Given the description of an element on the screen output the (x, y) to click on. 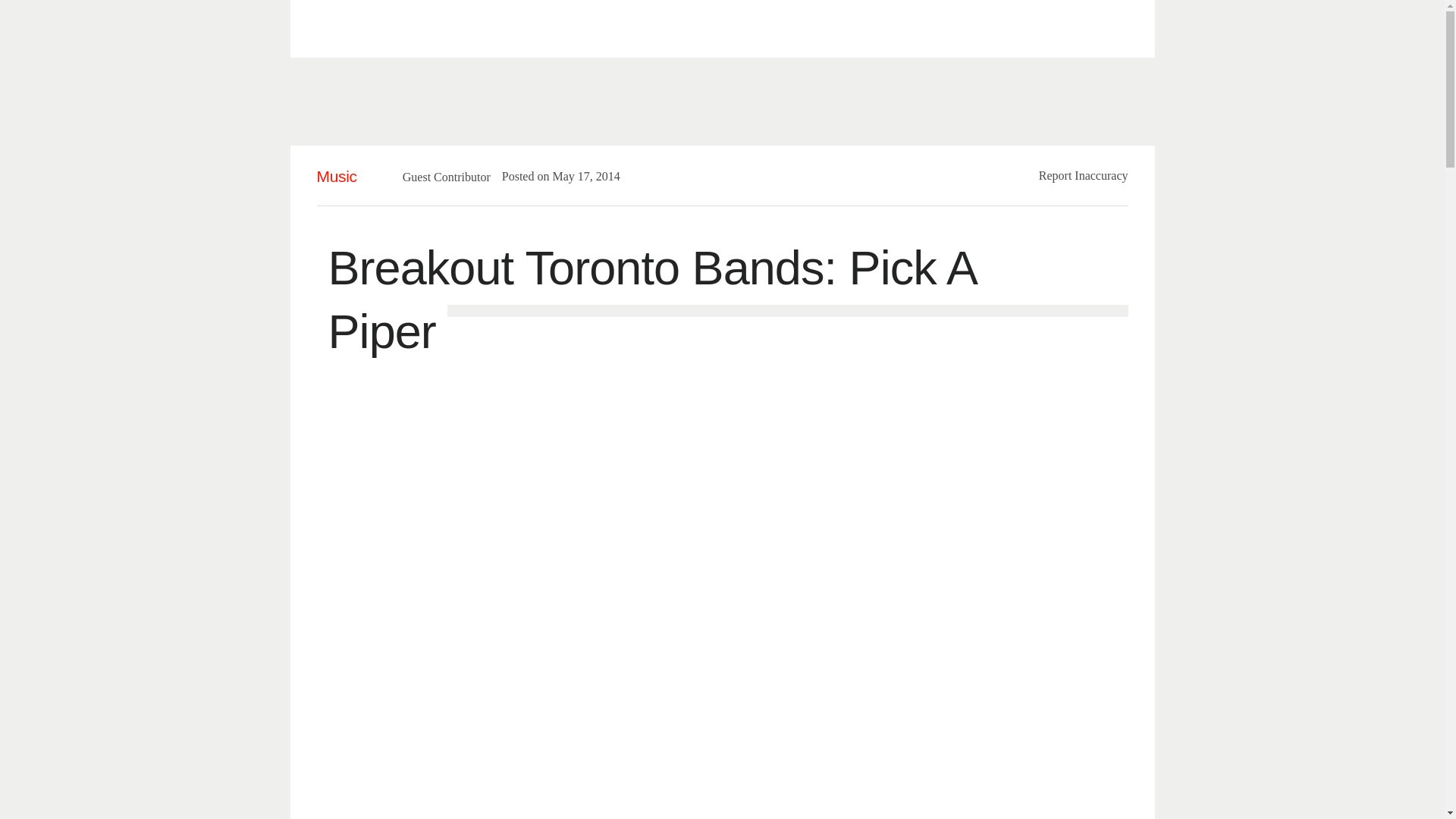
Report Inaccuracy (1083, 174)
2014-05-17T02:38:00 (578, 175)
Music (336, 175)
